Given the description of an element on the screen output the (x, y) to click on. 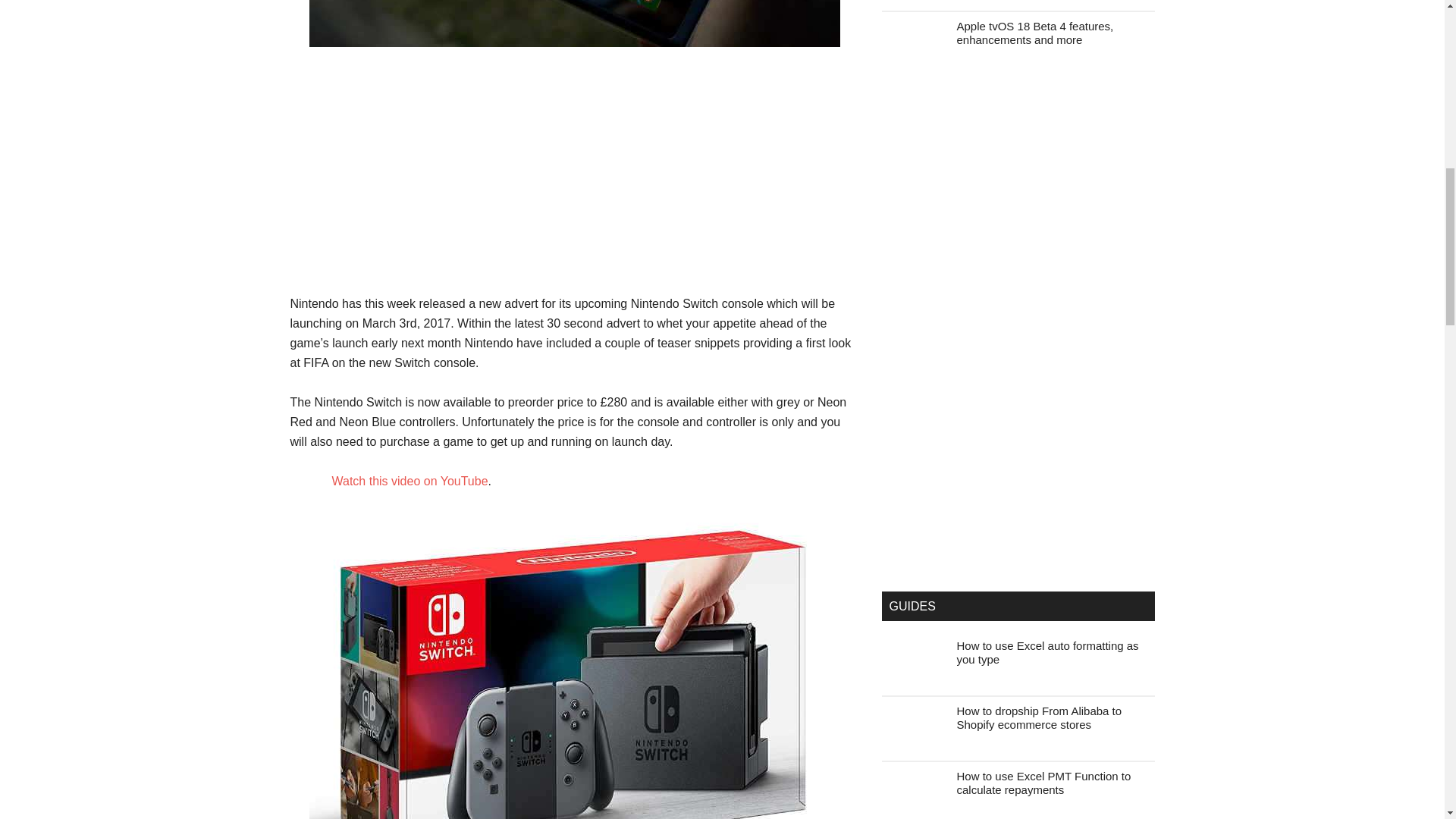
Watch this video on YouTube (409, 481)
